Given the description of an element on the screen output the (x, y) to click on. 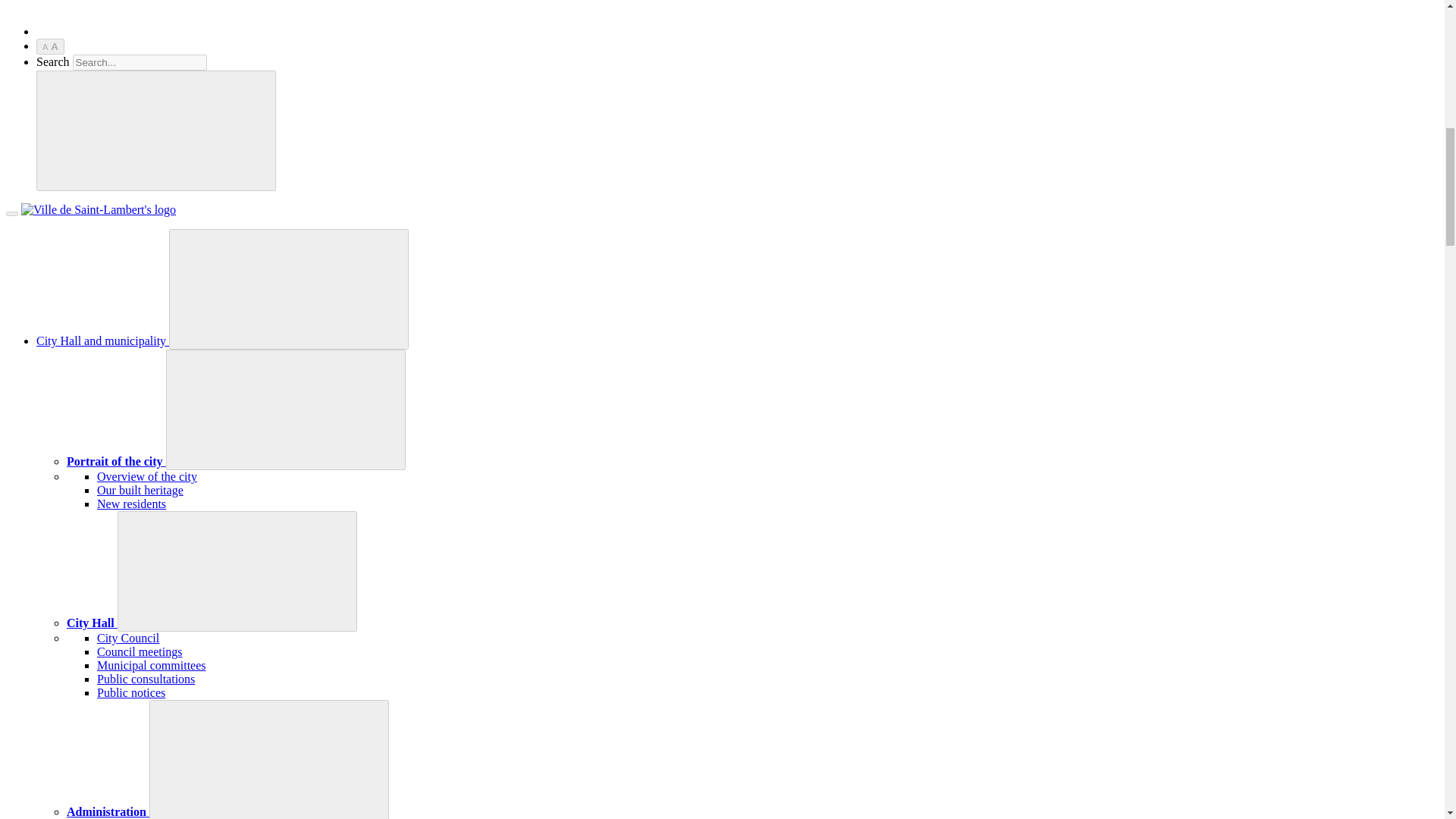
Council meetings (139, 651)
Our built heritage (140, 490)
Overview of the city (146, 476)
Public consultations (146, 678)
City Council (127, 637)
A A (50, 46)
New residents (131, 503)
Public notices (131, 692)
Municipal committees (151, 665)
Portrait of the city (115, 461)
City Hall and municipality (102, 340)
Administration (107, 811)
City Hall (91, 622)
